Given the description of an element on the screen output the (x, y) to click on. 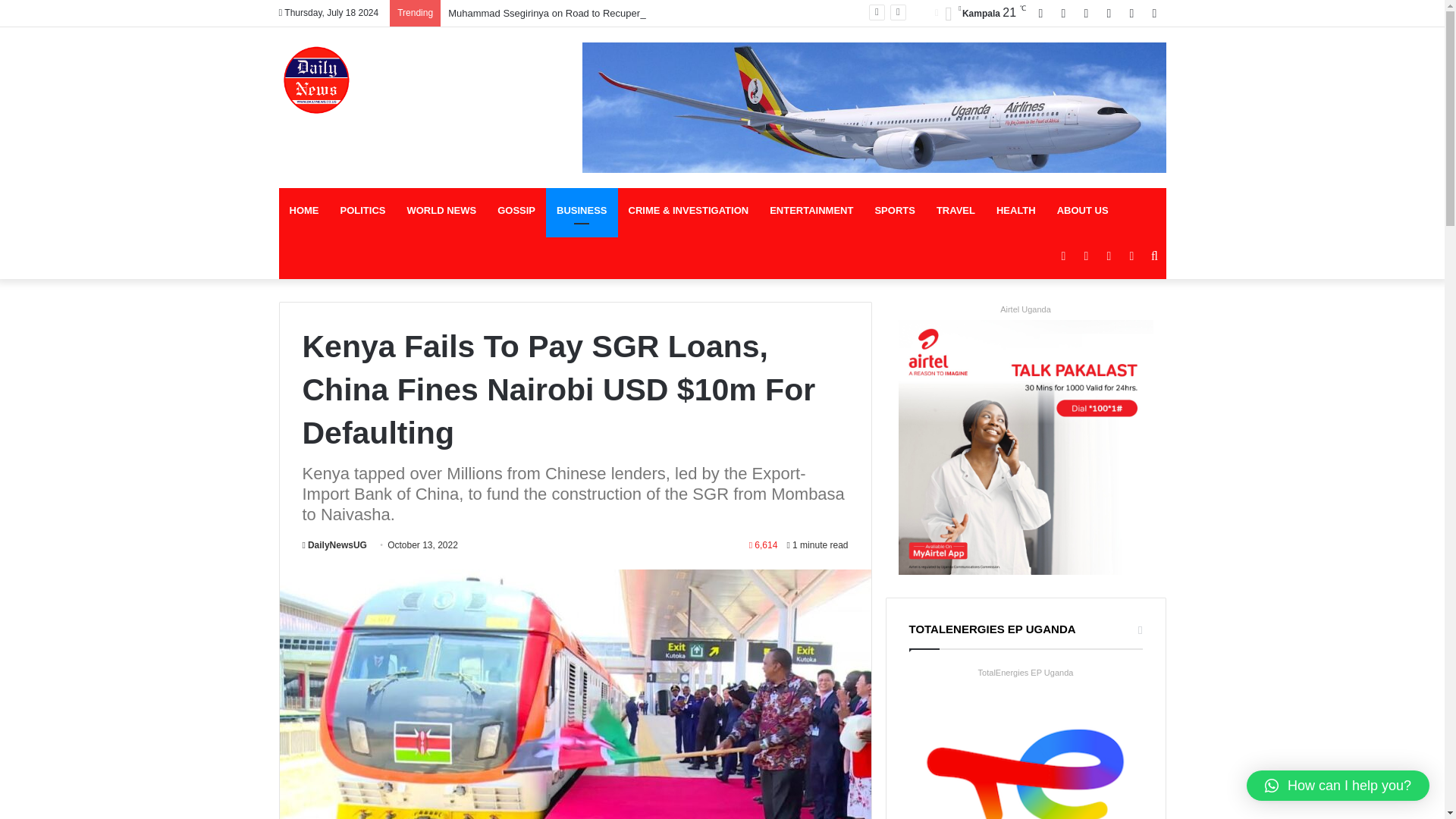
Muhammad Ssegirinya on Road to Recuperation (554, 12)
DailyNewsUG (317, 79)
DailyNewsUG (333, 544)
POLITICS (362, 210)
ENTERTAINMENT (810, 210)
WORLD NEWS (441, 210)
SPORTS (893, 210)
HOME (304, 210)
DailyNewsUG (333, 544)
HEALTH (1015, 210)
BUSINESS (581, 210)
Scattered Clouds (980, 13)
TRAVEL (955, 210)
ABOUT US (1082, 210)
TotalEnergies EP Uganda (1025, 672)
